Given the description of an element on the screen output the (x, y) to click on. 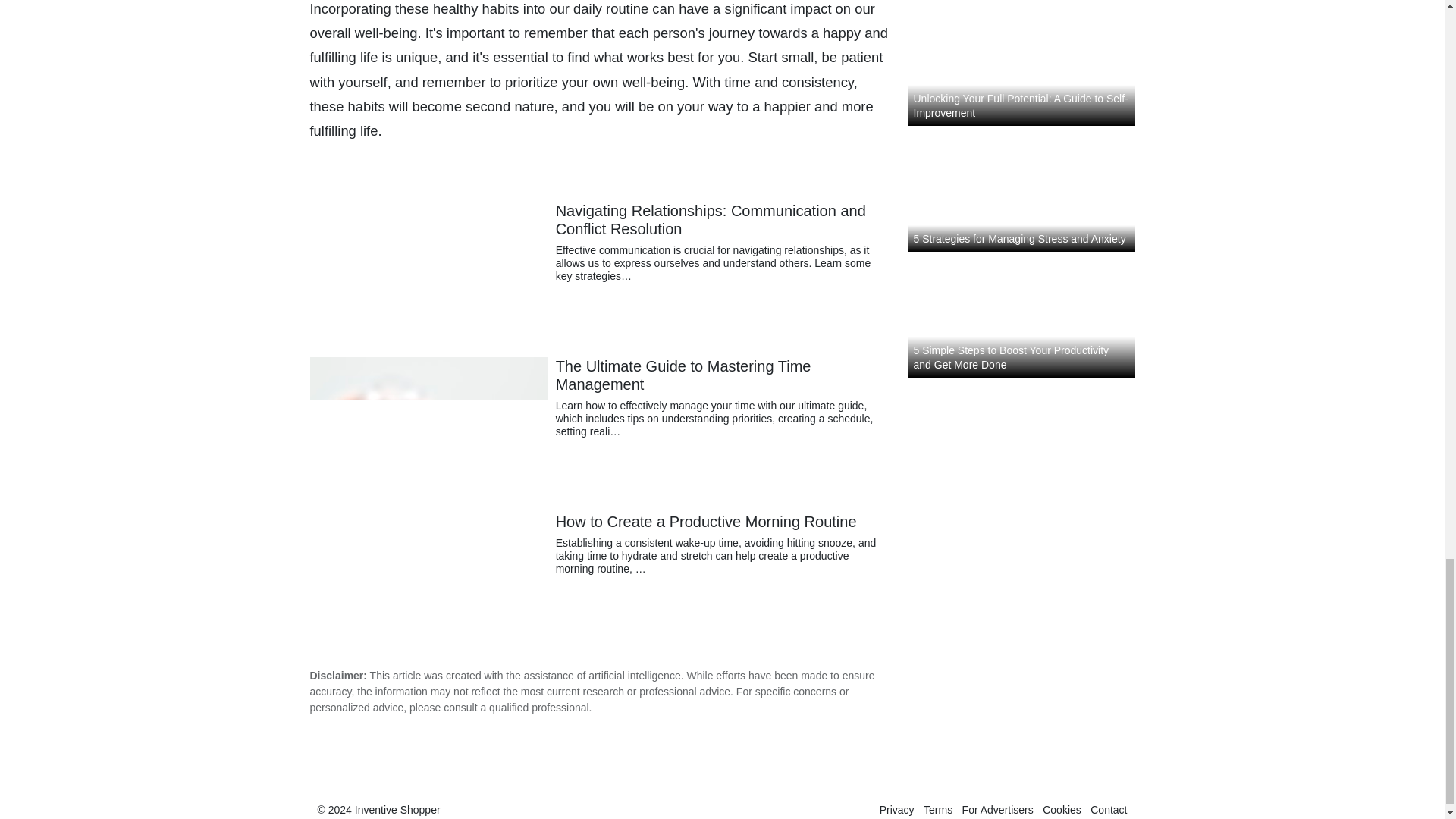
Privacy (896, 809)
Contact (1108, 809)
Terms (937, 809)
For Advertisers (997, 809)
Cookies (1061, 809)
